Given the description of an element on the screen output the (x, y) to click on. 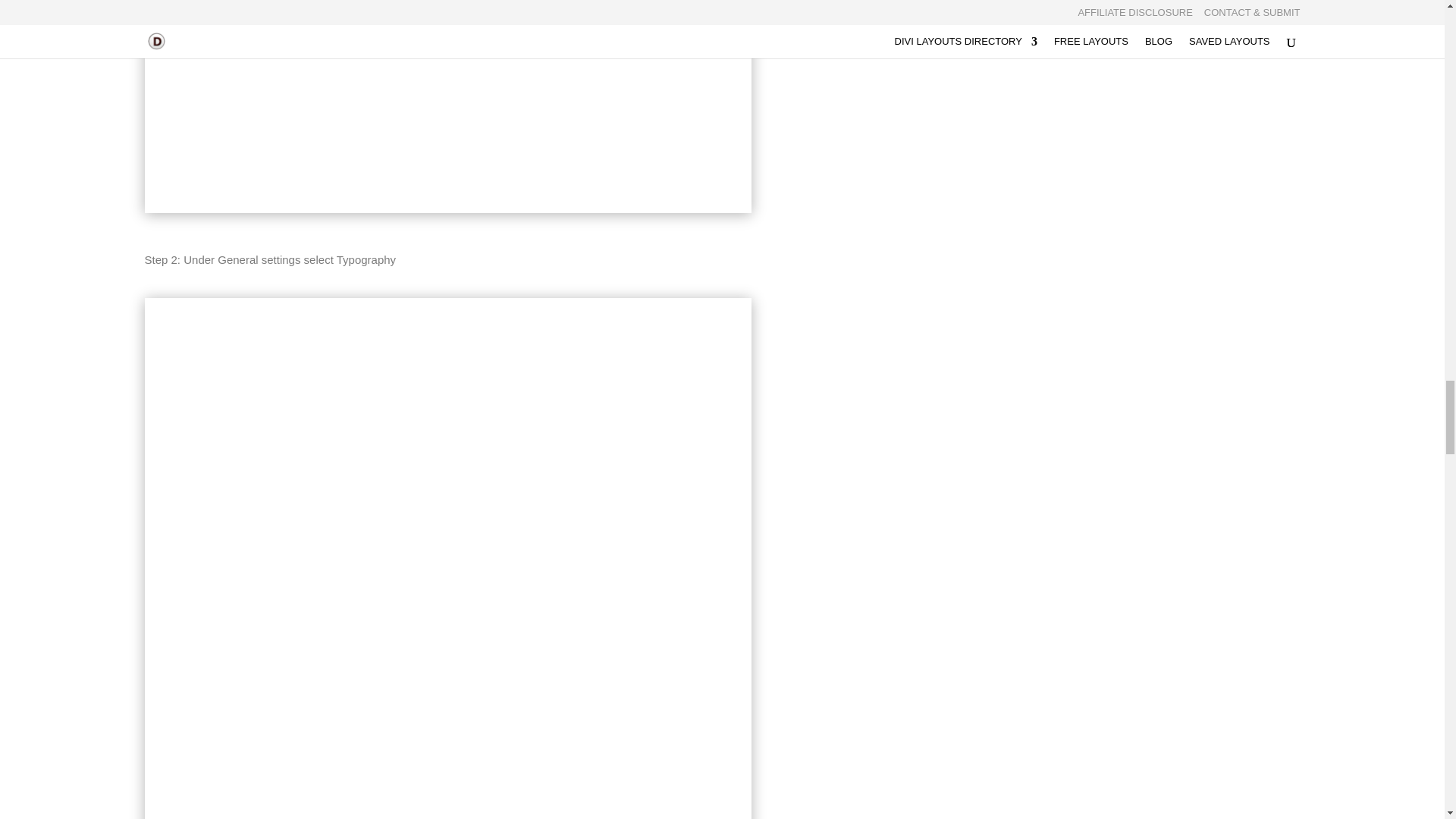
divi font general settings (447, 106)
